Given the description of an element on the screen output the (x, y) to click on. 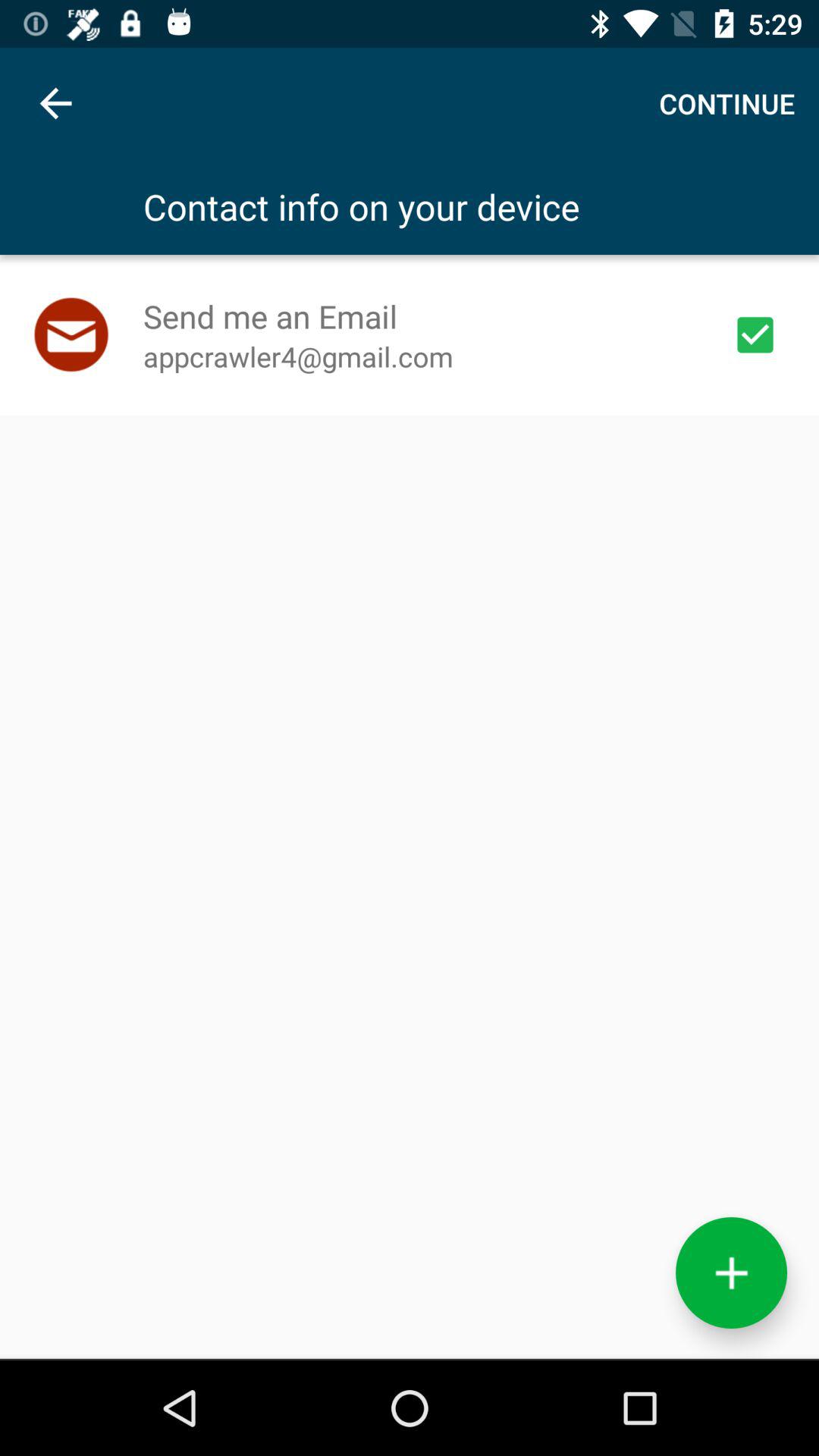
select item below contact info on icon (755, 334)
